Given the description of an element on the screen output the (x, y) to click on. 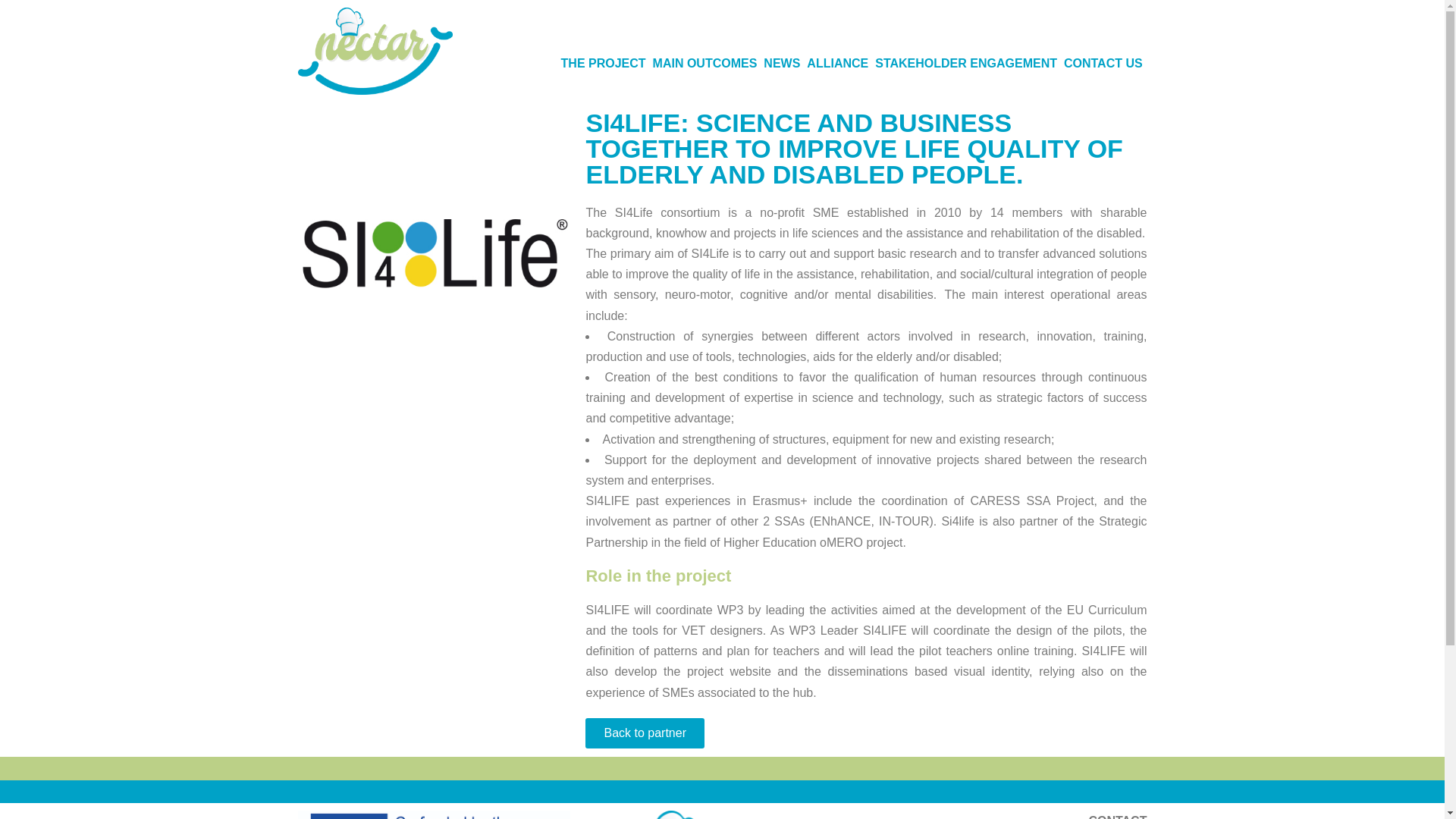
STAKEHOLDER ENGAGEMENT (965, 63)
Back to partner (644, 733)
MAIN OUTCOMES (704, 63)
NEWS (781, 63)
ALLIANCE (837, 63)
CONTACT US (1103, 63)
THE PROJECT (603, 63)
